Given the description of an element on the screen output the (x, y) to click on. 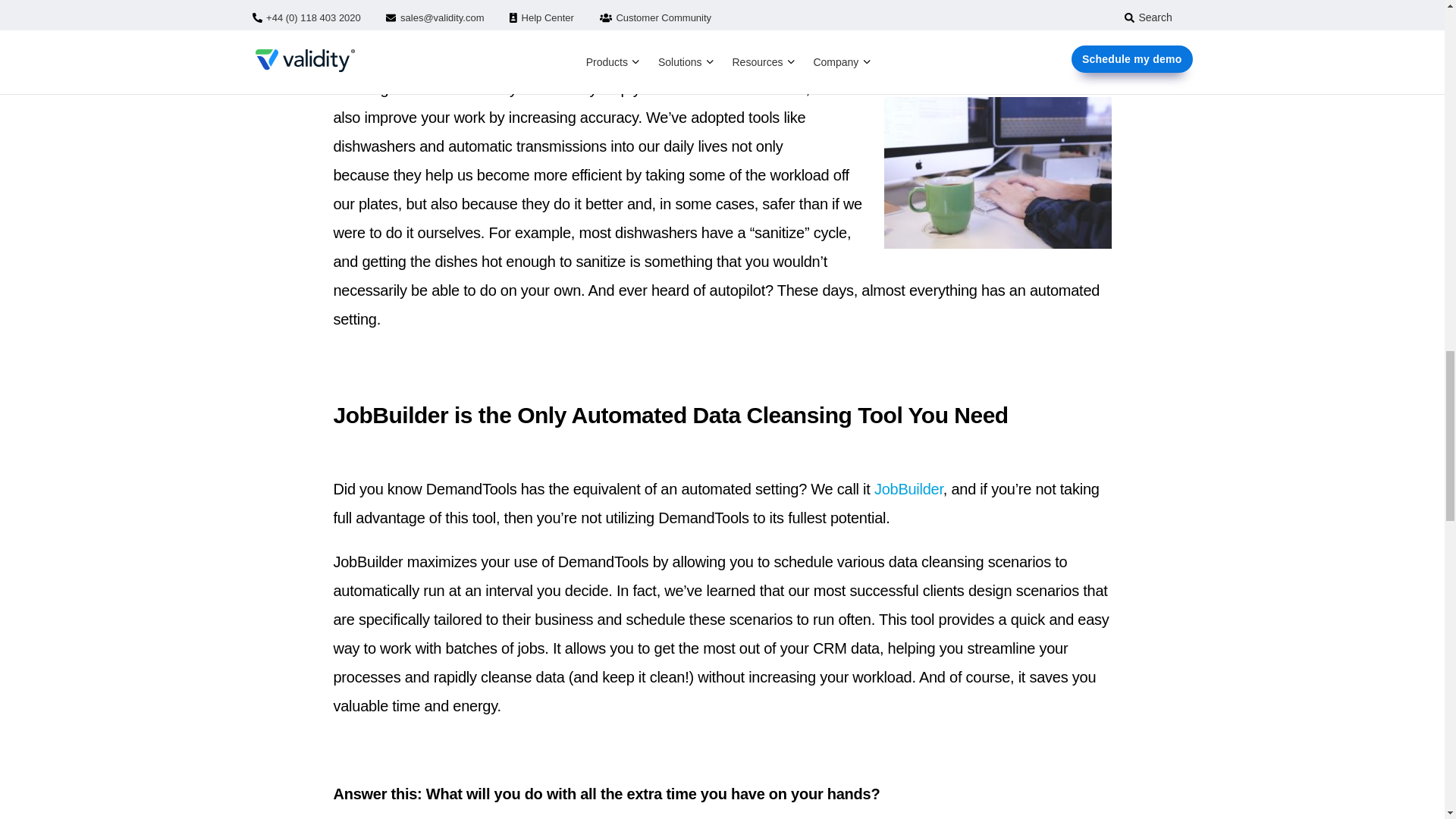
Automated Data Cleansing (997, 161)
